Given the description of an element on the screen output the (x, y) to click on. 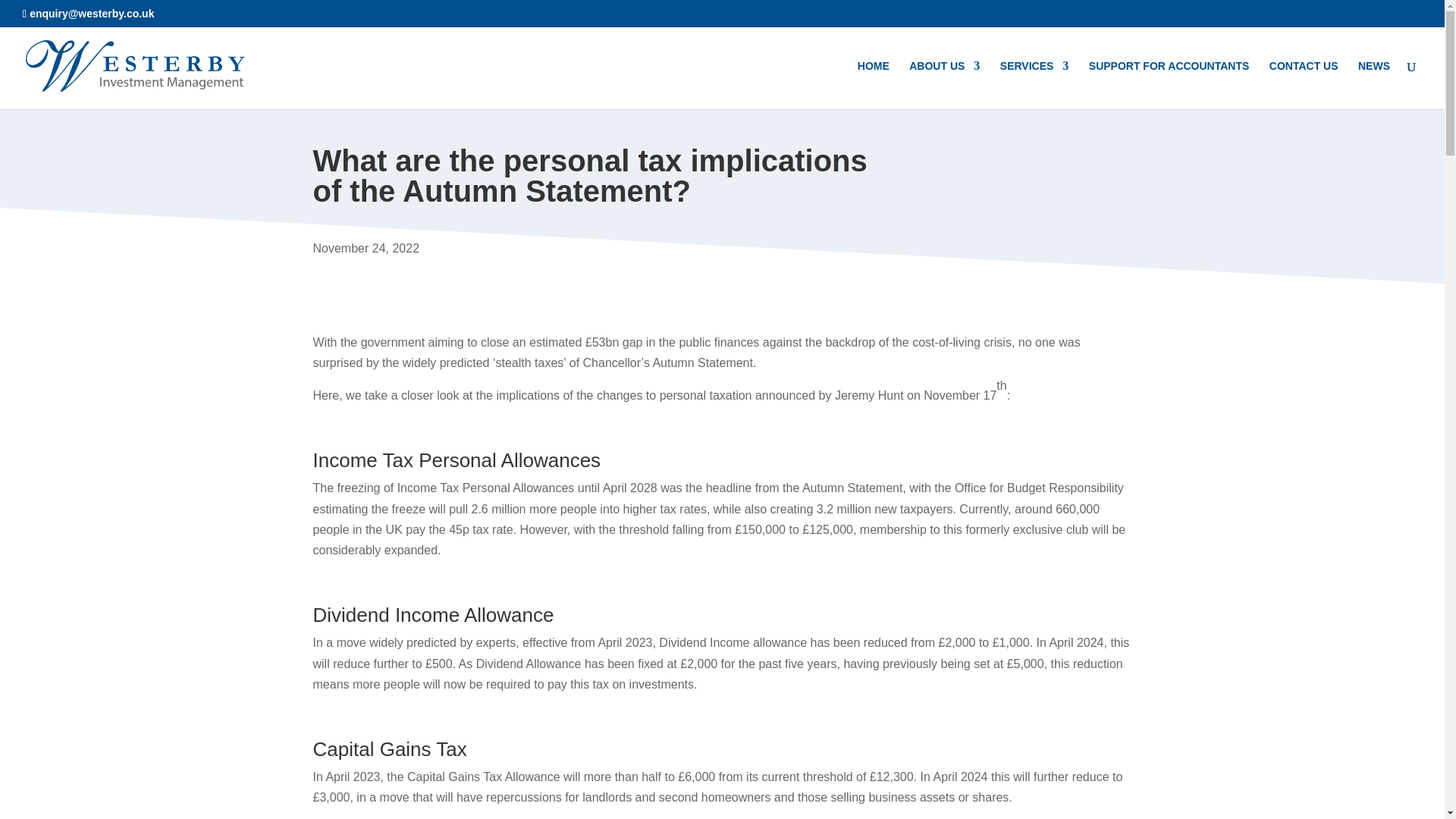
SERVICES (1034, 84)
SUPPORT FOR ACCOUNTANTS (1169, 84)
ABOUT US (943, 84)
CONTACT US (1303, 84)
